Given the description of an element on the screen output the (x, y) to click on. 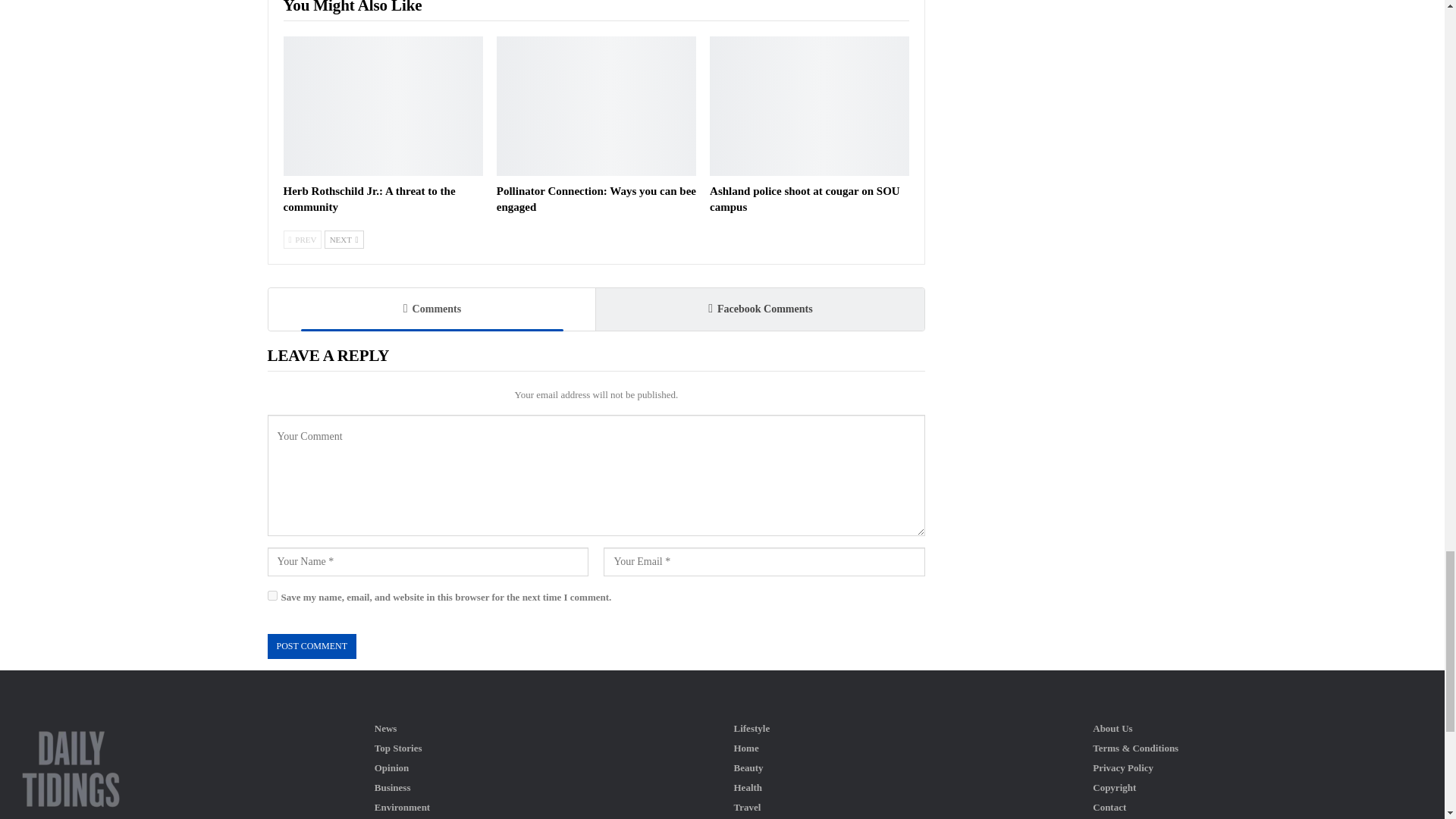
yes (271, 595)
You Might Also Like (352, 6)
Herb Rothschild Jr.: A threat to the community (383, 106)
Pollinator Connection: Ways you can bee engaged (595, 198)
Next (344, 239)
Ashland police shoot at cougar on SOU campus (804, 198)
Post Comment (310, 646)
Ashland police shoot at cougar on SOU campus (809, 106)
Herb Rothschild Jr.: A threat to the community (369, 198)
Pollinator Connection: Ways you can bee engaged (595, 106)
Previous (302, 239)
Herb Rothschild Jr.: A threat to the community (369, 198)
